Given the description of an element on the screen output the (x, y) to click on. 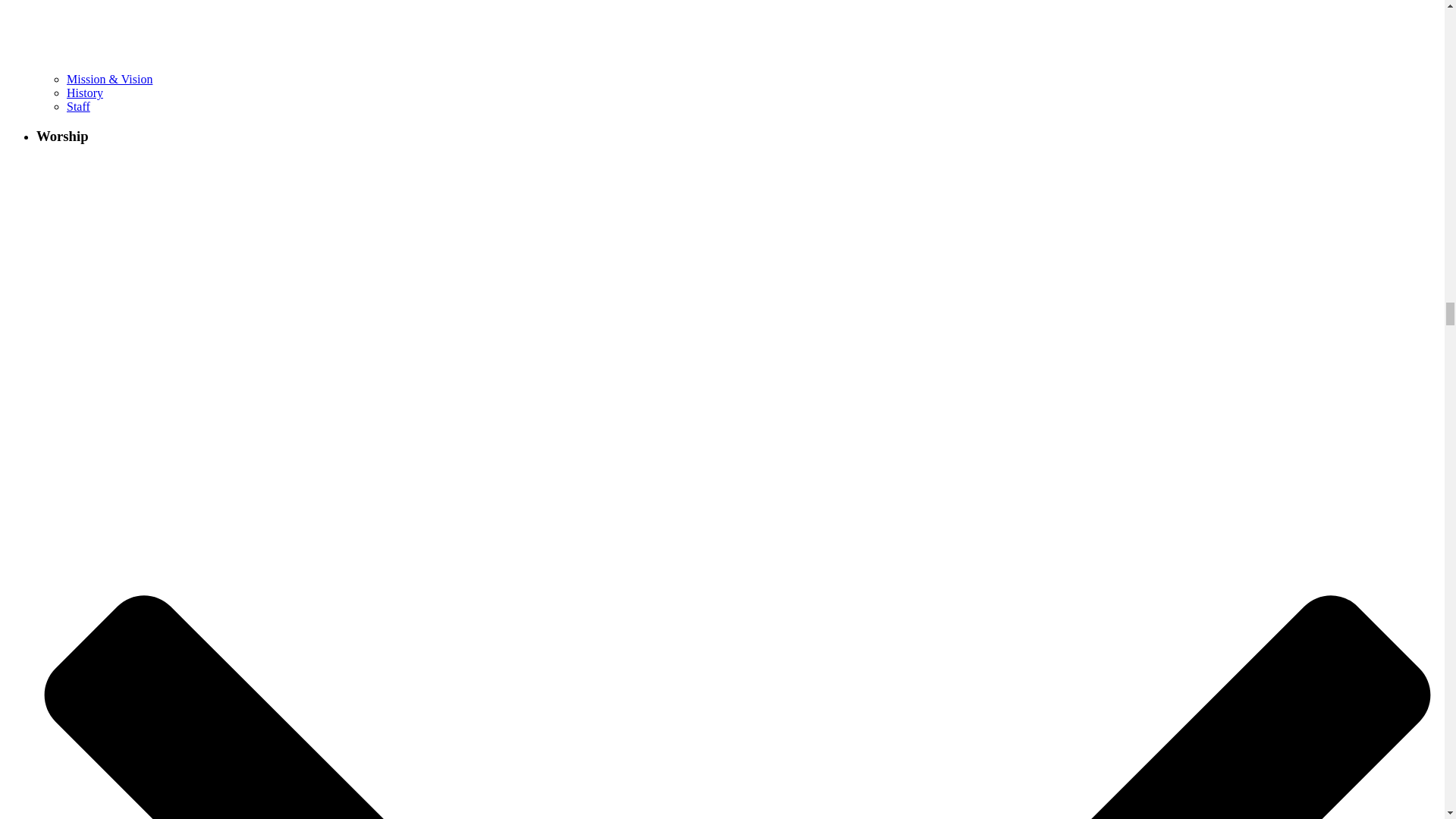
History (84, 92)
Staff (78, 106)
